Given the description of an element on the screen output the (x, y) to click on. 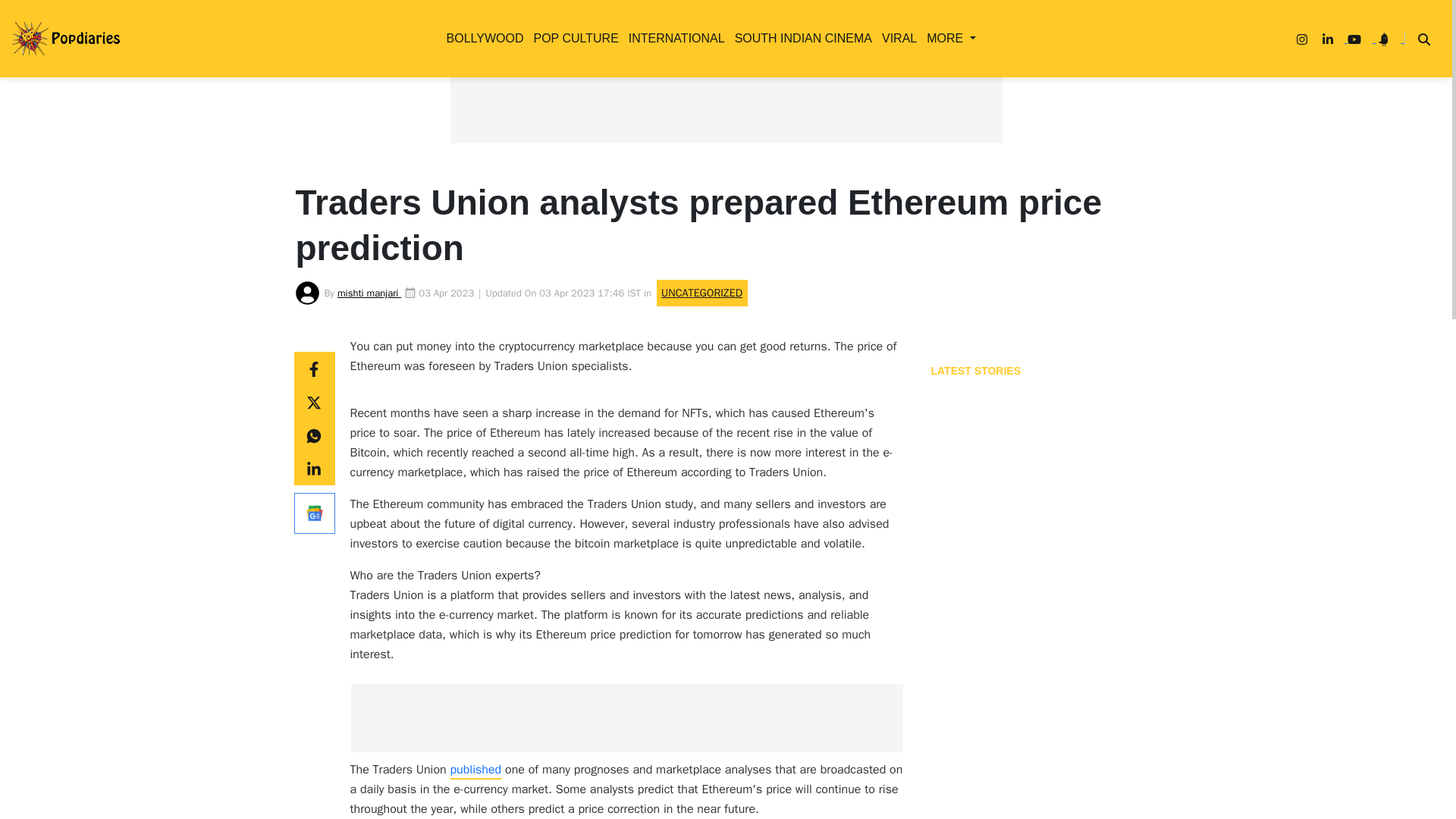
SOUTH INDIAN CINEMA (800, 38)
BOLLYWOOD (482, 38)
UNCATEGORIZED (540, 225)
POP CULTURE (572, 38)
mishti manjari (369, 292)
INTERNATIONAL (674, 38)
